Given the description of an element on the screen output the (x, y) to click on. 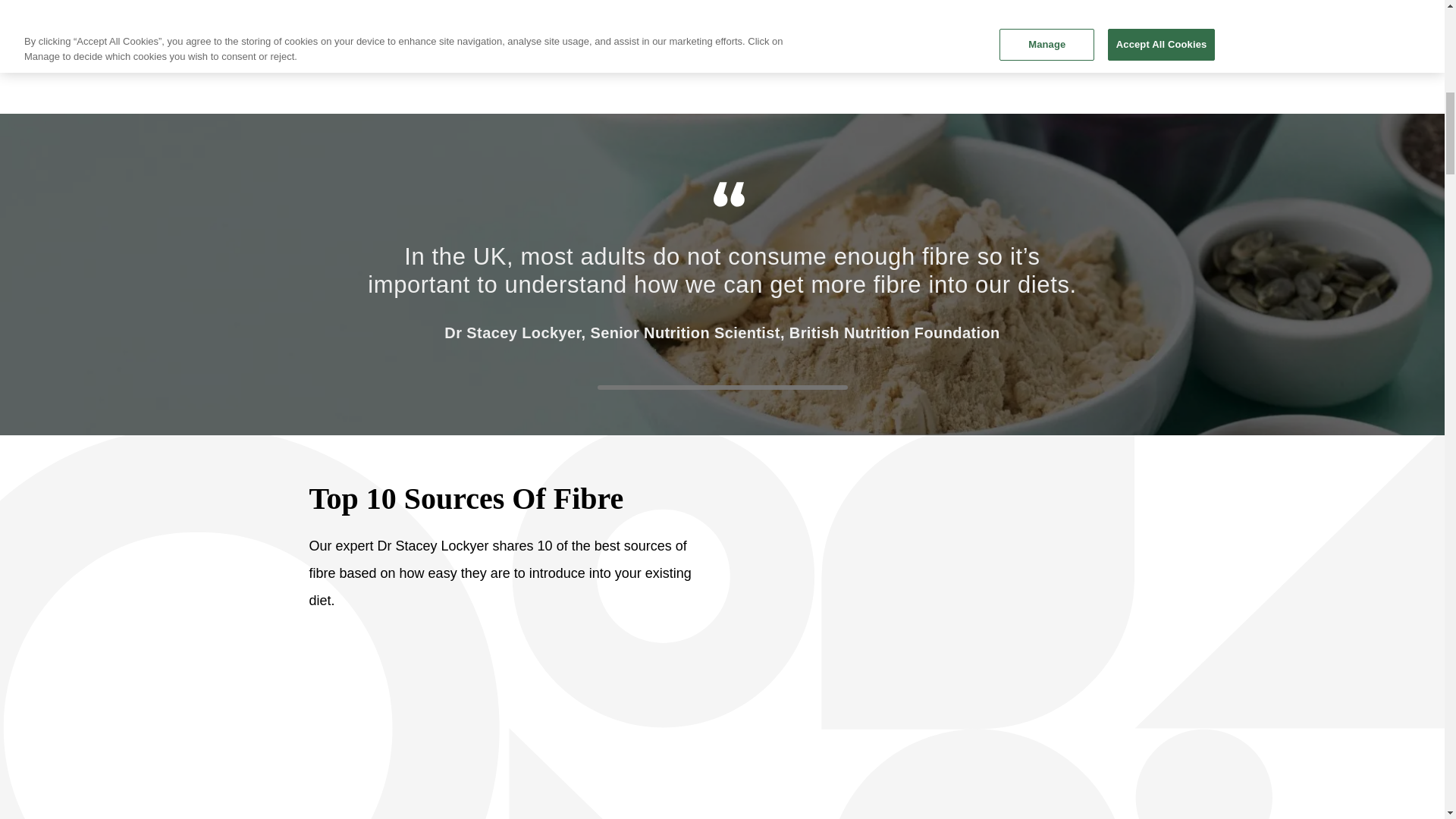
Vitamins and Minerals (672, 40)
